Given the description of an element on the screen output the (x, y) to click on. 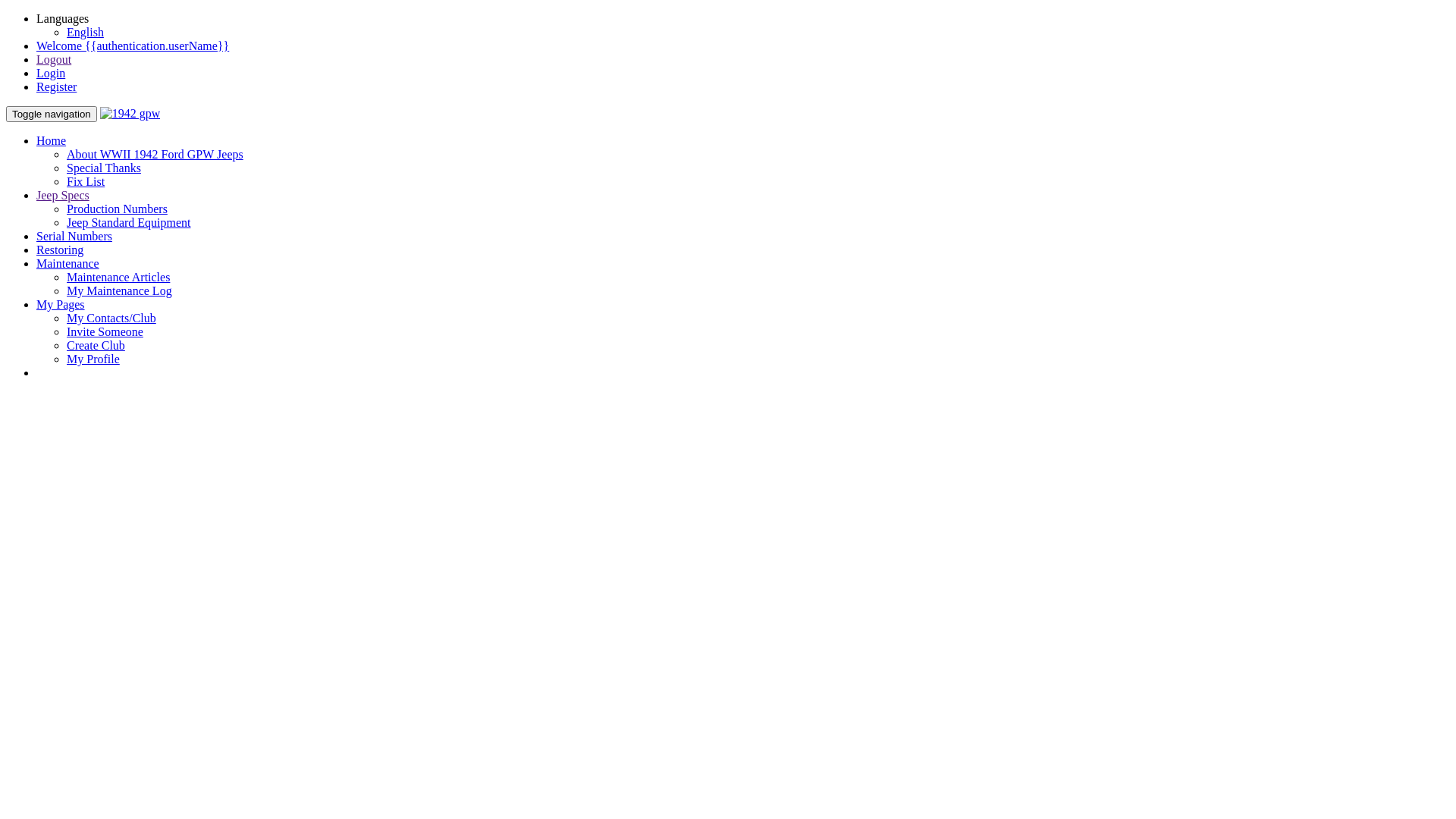
Create Club Element type: text (95, 344)
My Maintenance Log Element type: text (119, 290)
Invite Someone Element type: text (104, 331)
Fix List Element type: text (85, 181)
Serial Numbers Element type: text (74, 235)
Restoring Element type: text (59, 249)
My Profile Element type: text (92, 358)
Maintenance Articles Element type: text (117, 276)
Languages Element type: text (62, 18)
Toggle navigation Element type: text (51, 114)
Maintenance Element type: text (67, 263)
Register Element type: text (56, 86)
Production Numbers Element type: text (116, 208)
My Contacts/Club Element type: text (111, 317)
Jeep Standard Equipment Element type: text (128, 222)
Jeep Specs Element type: text (62, 194)
English Element type: text (84, 31)
Home Element type: text (50, 140)
Login Element type: text (50, 72)
My Pages Element type: text (60, 304)
Special Thanks Element type: text (103, 167)
Logout Element type: text (53, 59)
About WWII 1942 Ford GPW Jeeps Element type: text (154, 153)
